Given the description of an element on the screen output the (x, y) to click on. 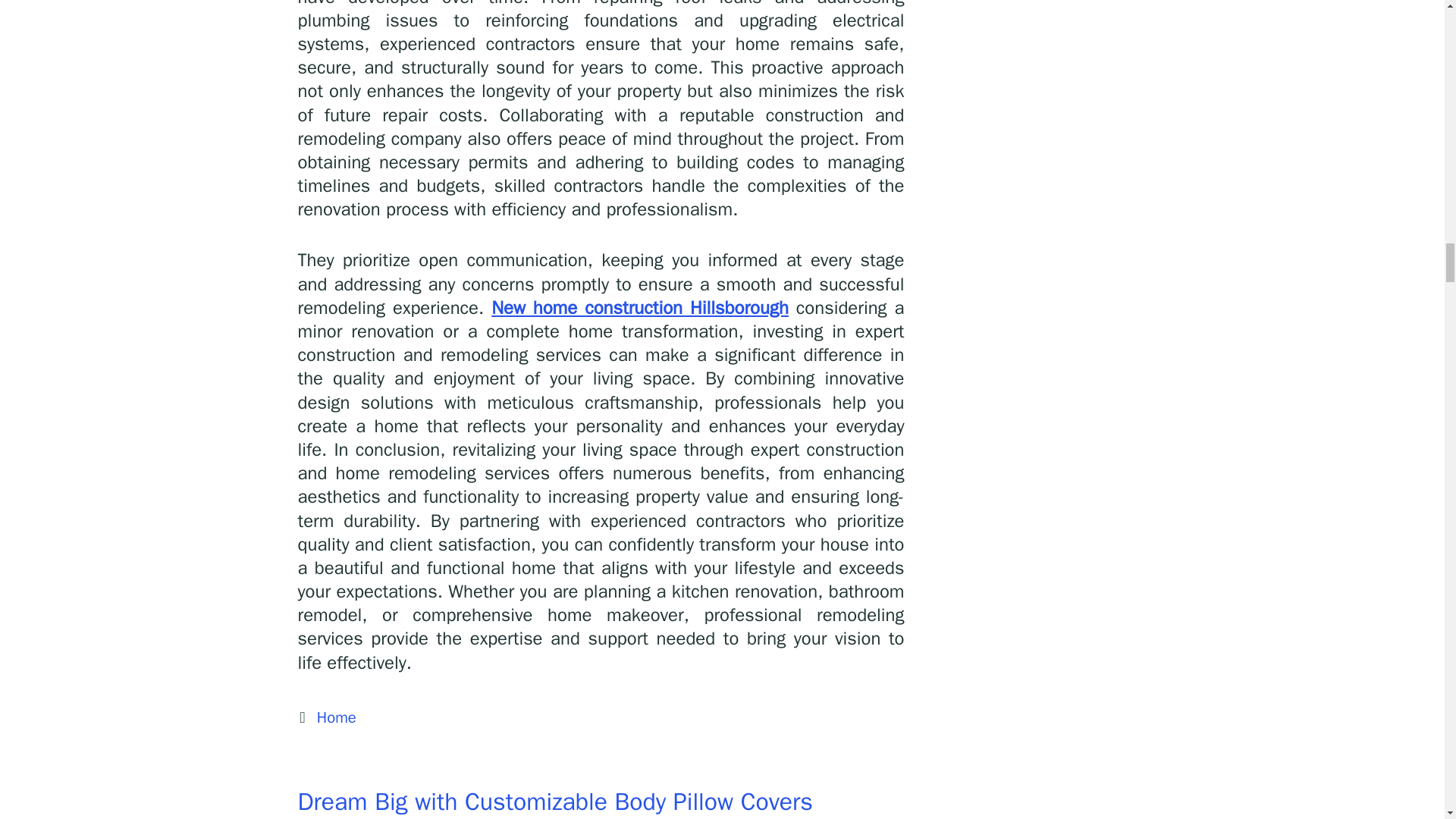
Home (336, 717)
New home construction Hillsborough (640, 307)
Dream Big with Customizable Body Pillow Covers (554, 801)
